Given the description of an element on the screen output the (x, y) to click on. 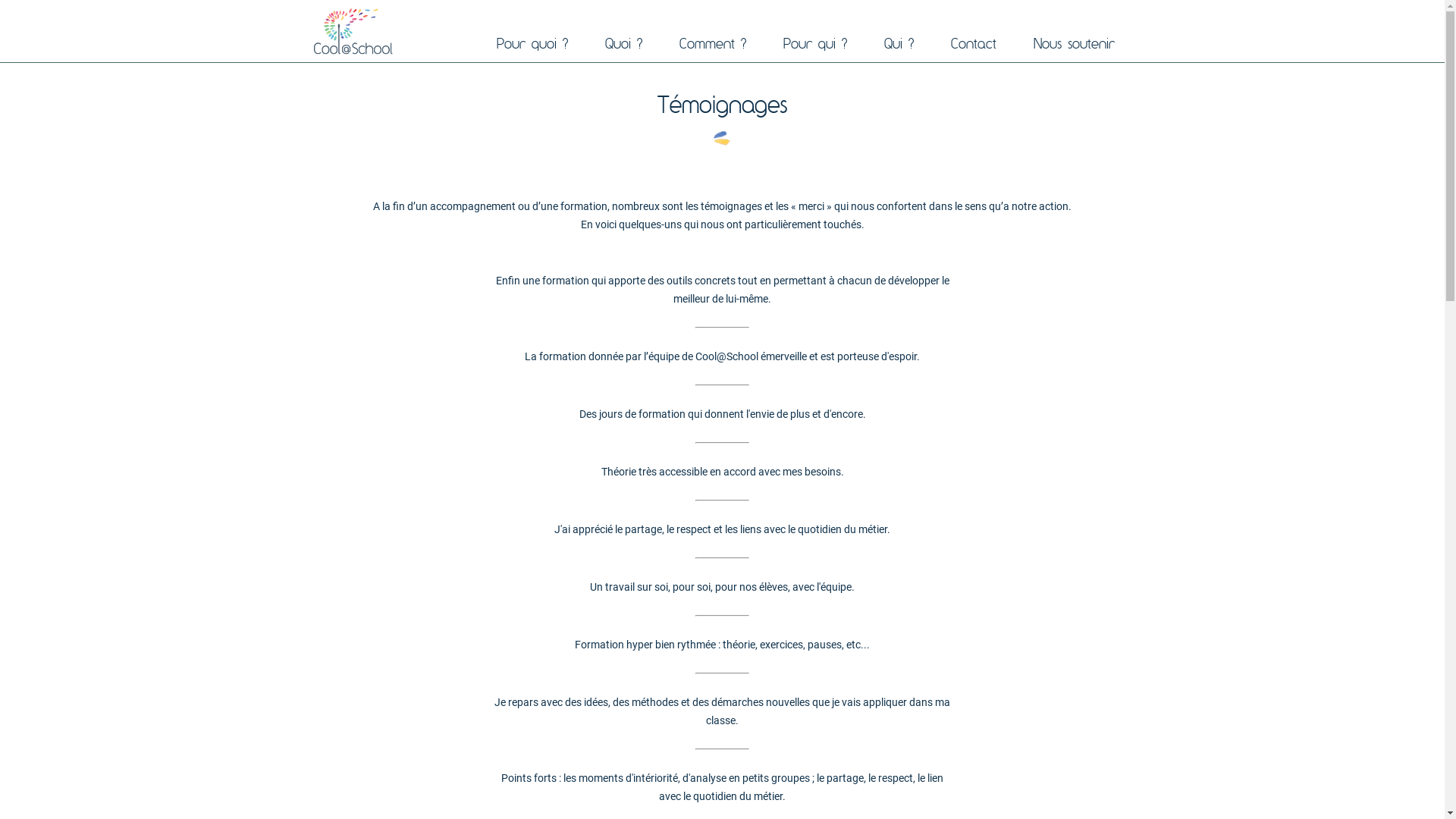
Nous soutenir Element type: text (1073, 42)
Quoi ? Element type: text (623, 42)
Qui ? Element type: text (898, 42)
Contact Element type: text (973, 42)
Pour quoi ? Element type: text (531, 42)
Pour qui ? Element type: text (813, 42)
Comment ? Element type: text (712, 42)
